Given the description of an element on the screen output the (x, y) to click on. 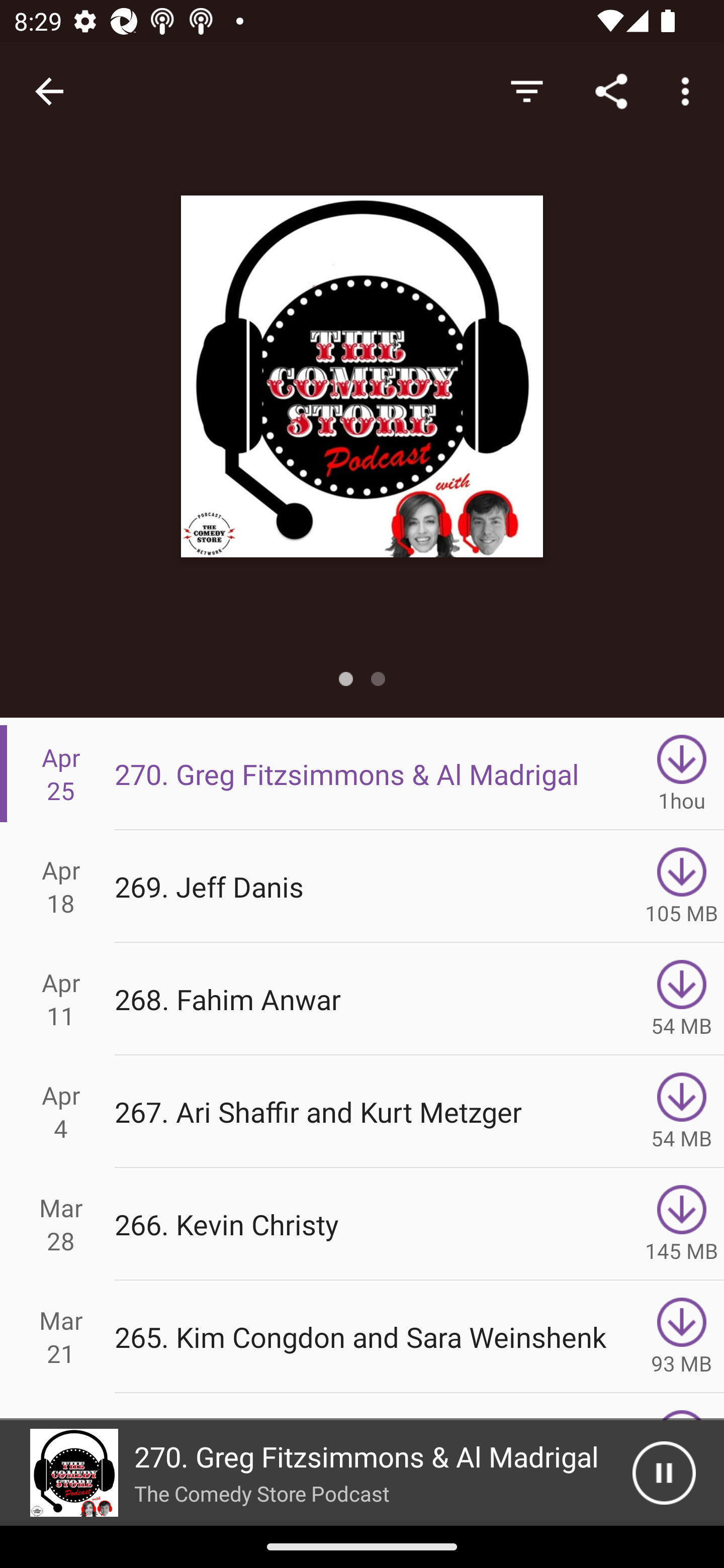
Navigate up (49, 91)
Hide Episodes (526, 90)
Share Link (611, 90)
More options (688, 90)
Download 1hou (681, 773)
Apr 18 269. Jeff Danis Download 105 MB (362, 885)
Download 105 MB (681, 885)
Apr 11 268. Fahim Anwar Download 54 MB (362, 998)
Download 54 MB (681, 998)
Download 54 MB (681, 1111)
Mar 28 266. Kevin Christy Download 145 MB (362, 1224)
Download 145 MB (681, 1224)
Download 93 MB (681, 1336)
Pause (663, 1472)
